Given the description of an element on the screen output the (x, y) to click on. 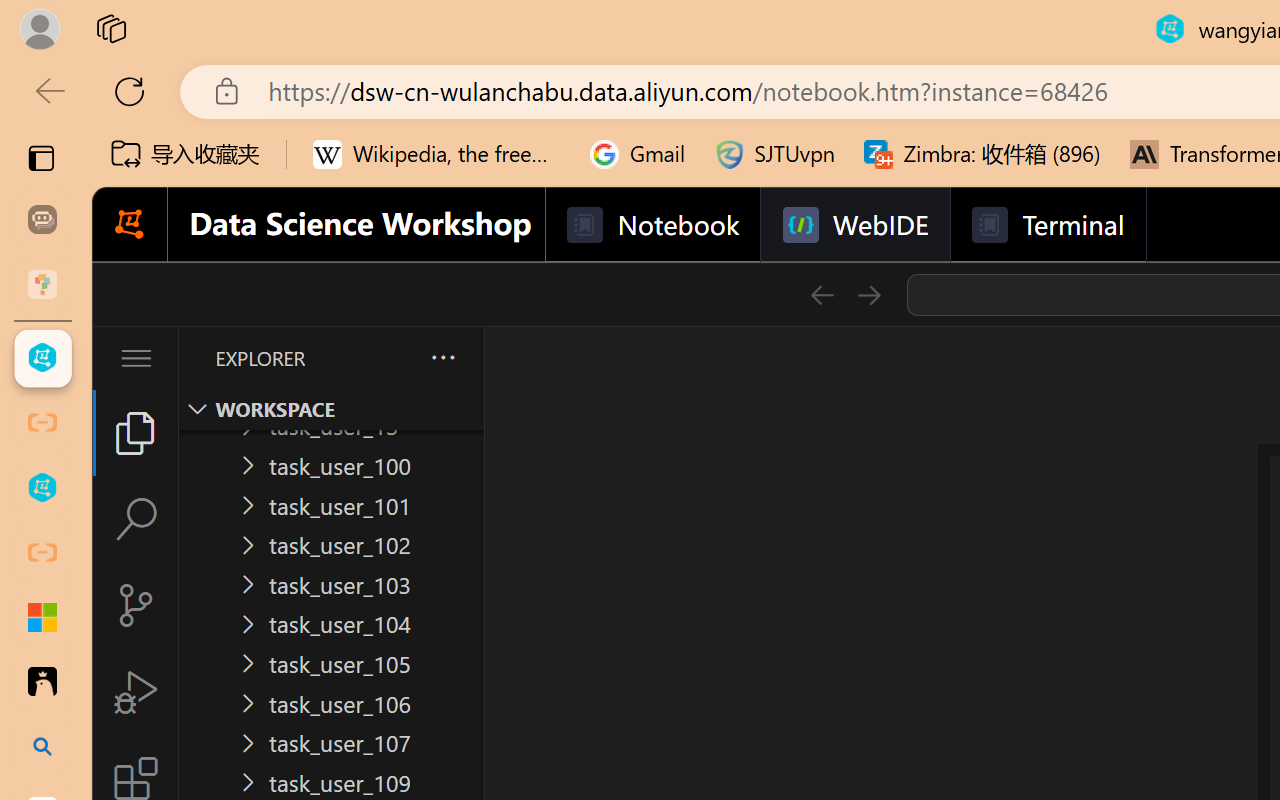
wangyian_webcrawler - DSW (42, 487)
Terminal (1046, 225)
wangyian_dsw - DSW (42, 357)
Wikipedia, the free encyclopedia (437, 154)
Gmail (637, 154)
Explorer Section: workspace (331, 409)
Notebook (652, 225)
Explorer actions (390, 358)
